Given the description of an element on the screen output the (x, y) to click on. 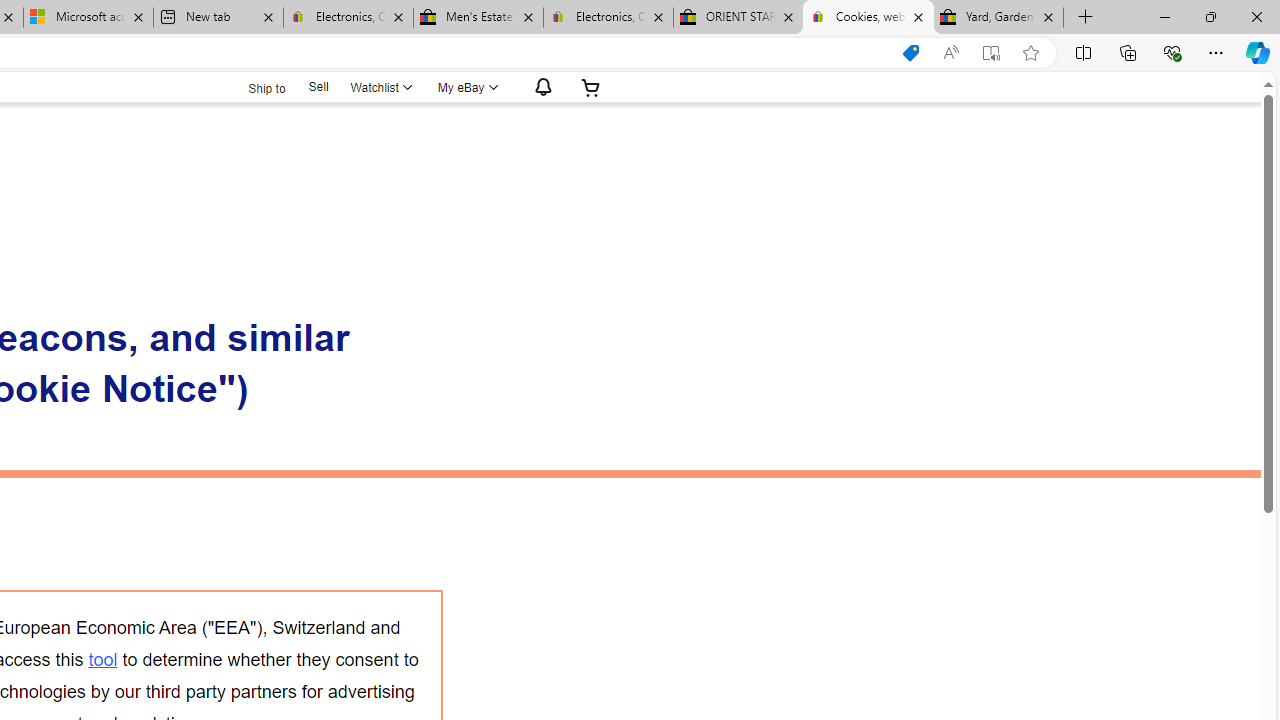
Watchlist (380, 87)
This site has coupons! Shopping in Microsoft Edge (910, 53)
WatchlistExpand Watch List (380, 87)
Enter Immersive Reader (F9) (991, 53)
My eBay (466, 87)
Notifications (538, 87)
Electronics, Cars, Fashion, Collectibles & More | eBay (608, 17)
